Given the description of an element on the screen output the (x, y) to click on. 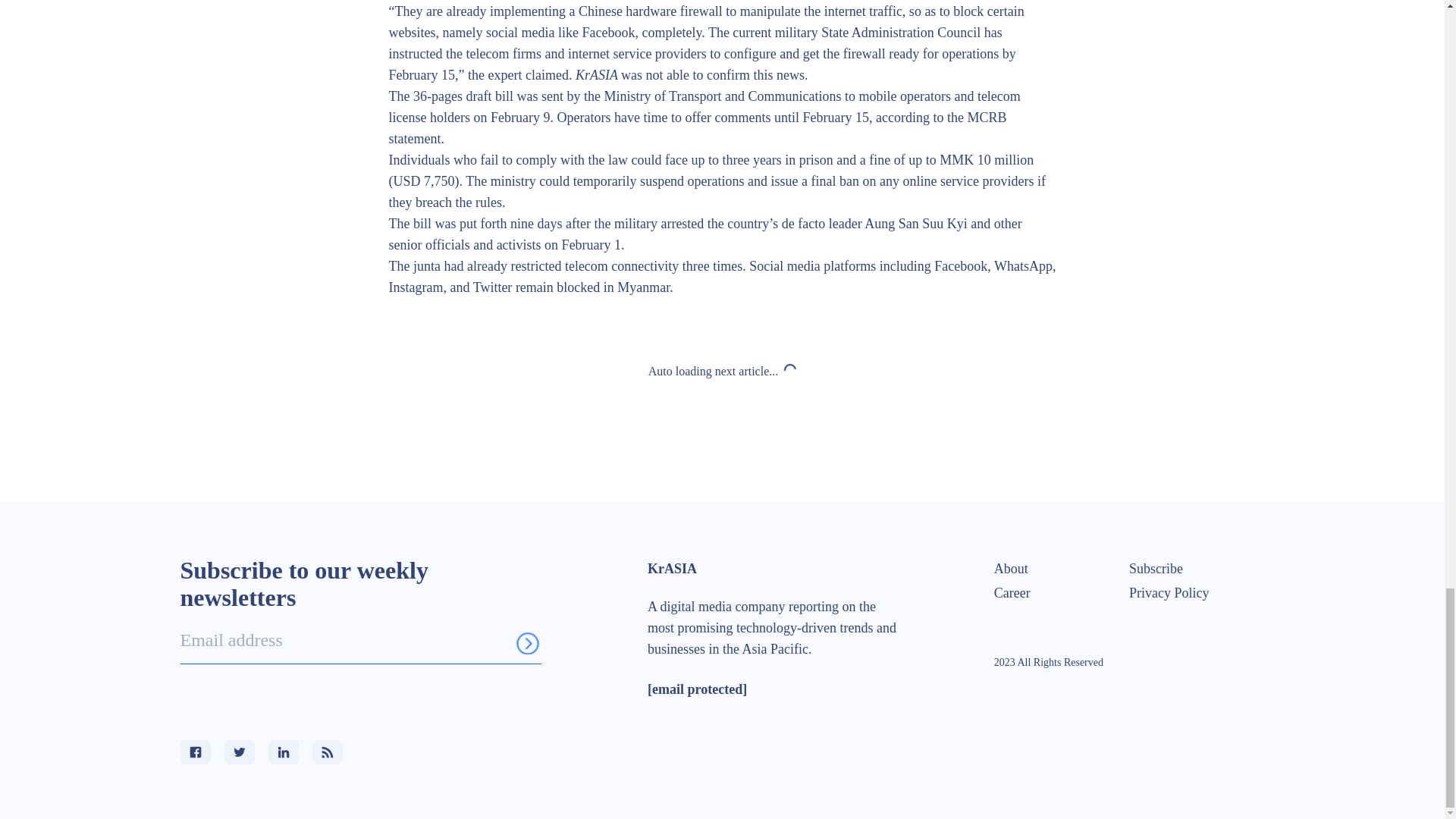
remain blocked (557, 287)
